Given the description of an element on the screen output the (x, y) to click on. 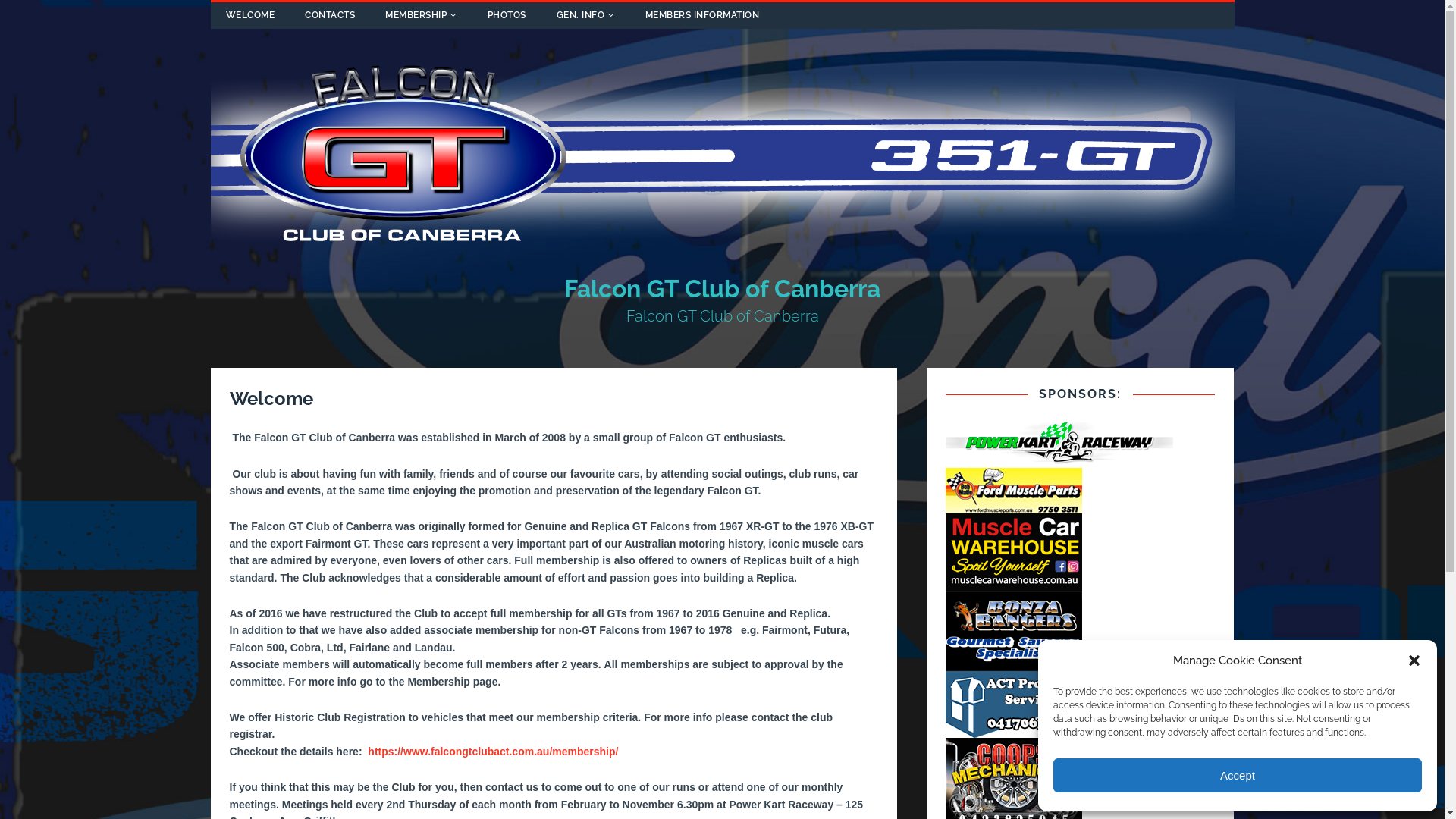
GEN. INFO Element type: text (585, 15)
MEMBERS INFORMATION Element type: text (701, 15)
MEMBERSHIP Element type: text (421, 15)
Accept Element type: text (1237, 775)
CONTACTS Element type: text (329, 15)
PHOTOS Element type: text (505, 15)
Falcon GT Club of Canberra
Falcon GT Club of Canberra Element type: text (722, 299)
https://www.falcongtclubact.com.au/membership/ Element type: text (492, 751)
WELCOME Element type: text (250, 15)
